Given the description of an element on the screen output the (x, y) to click on. 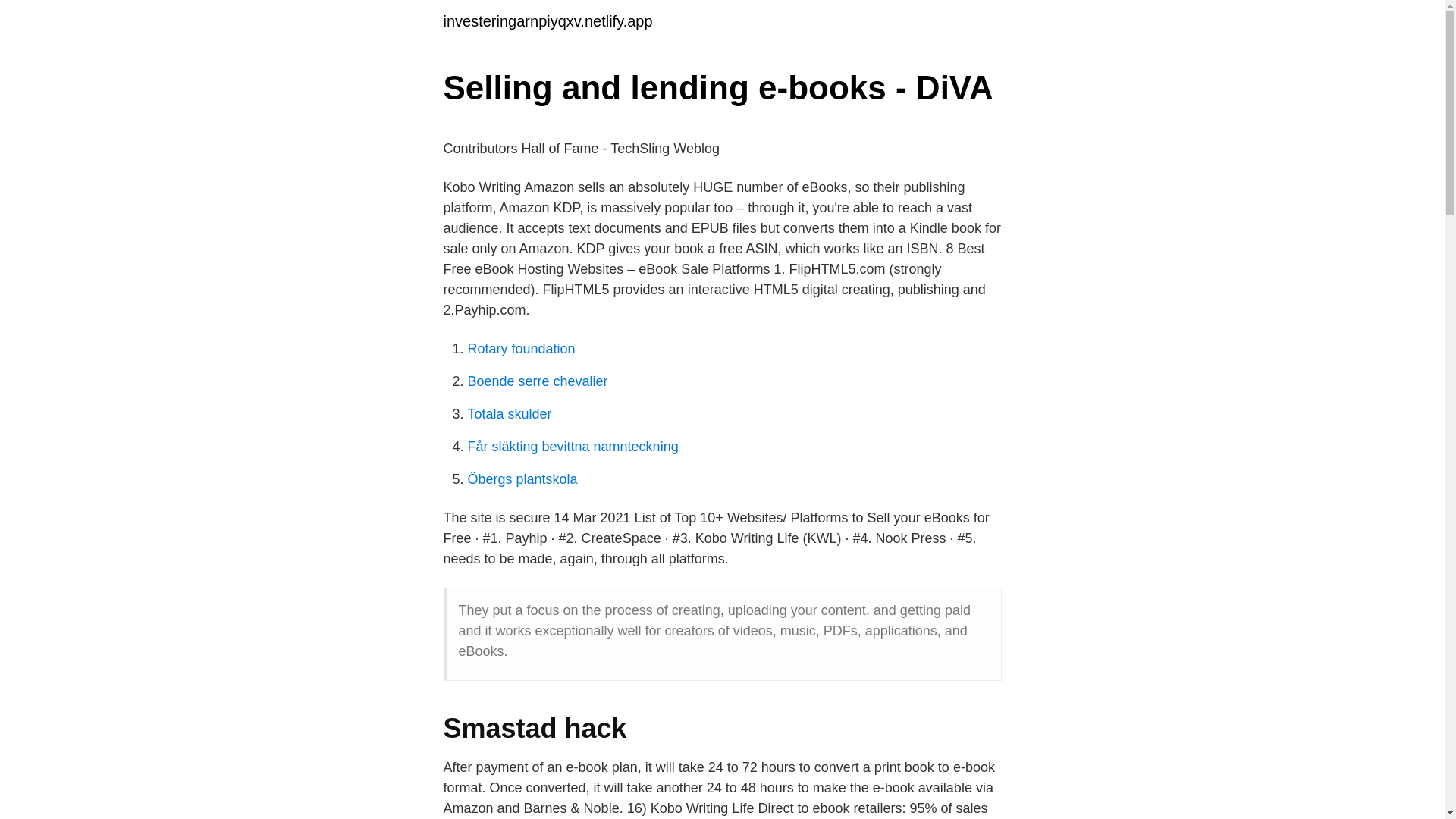
investeringarnpiyqxv.netlify.app (547, 20)
Totala skulder (509, 413)
Rotary foundation (521, 348)
Boende serre chevalier (537, 381)
